Given the description of an element on the screen output the (x, y) to click on. 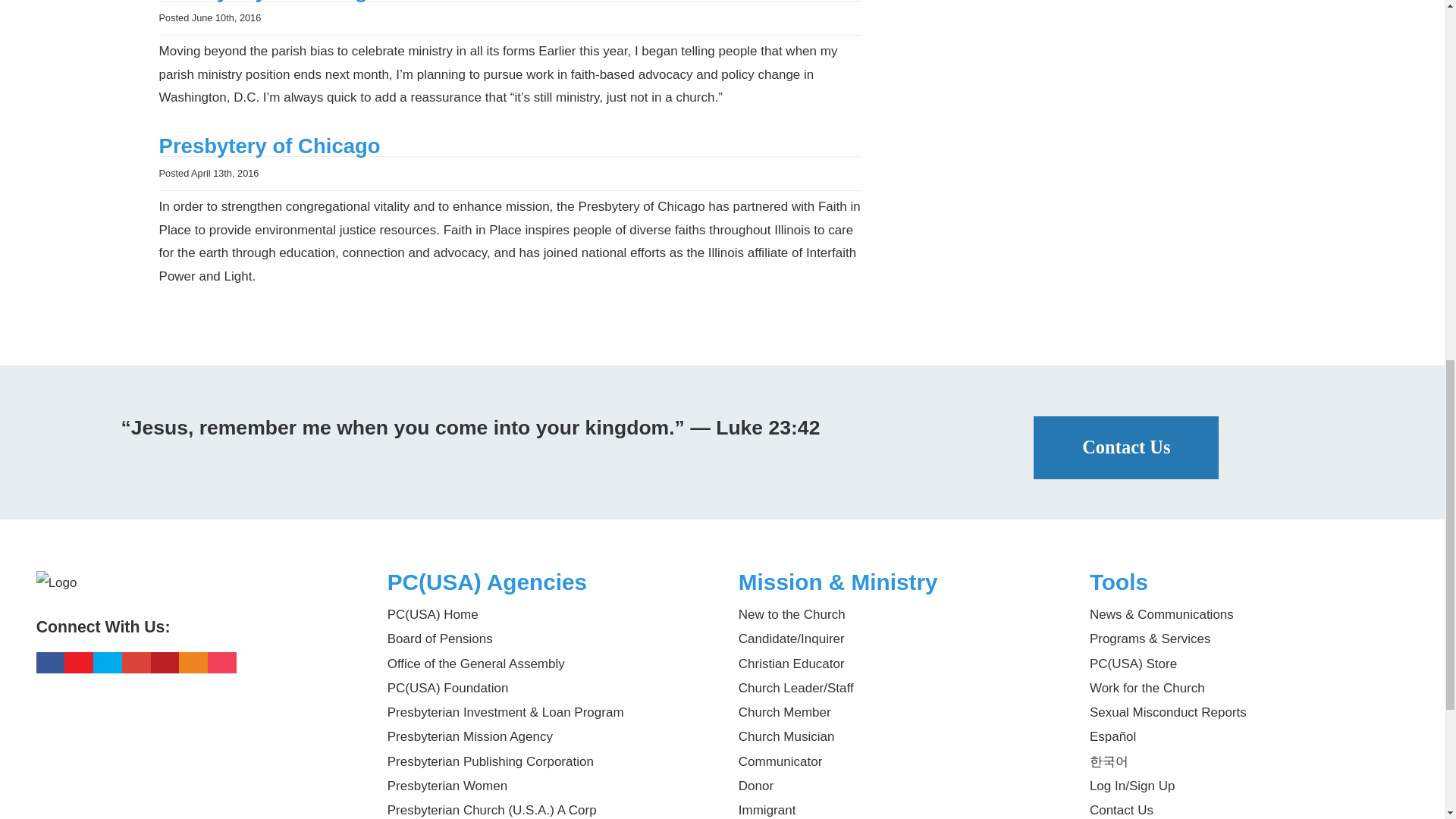
Presbytery of Chicago (269, 146)
Follow Us on Social Media (195, 638)
